Given the description of an element on the screen output the (x, y) to click on. 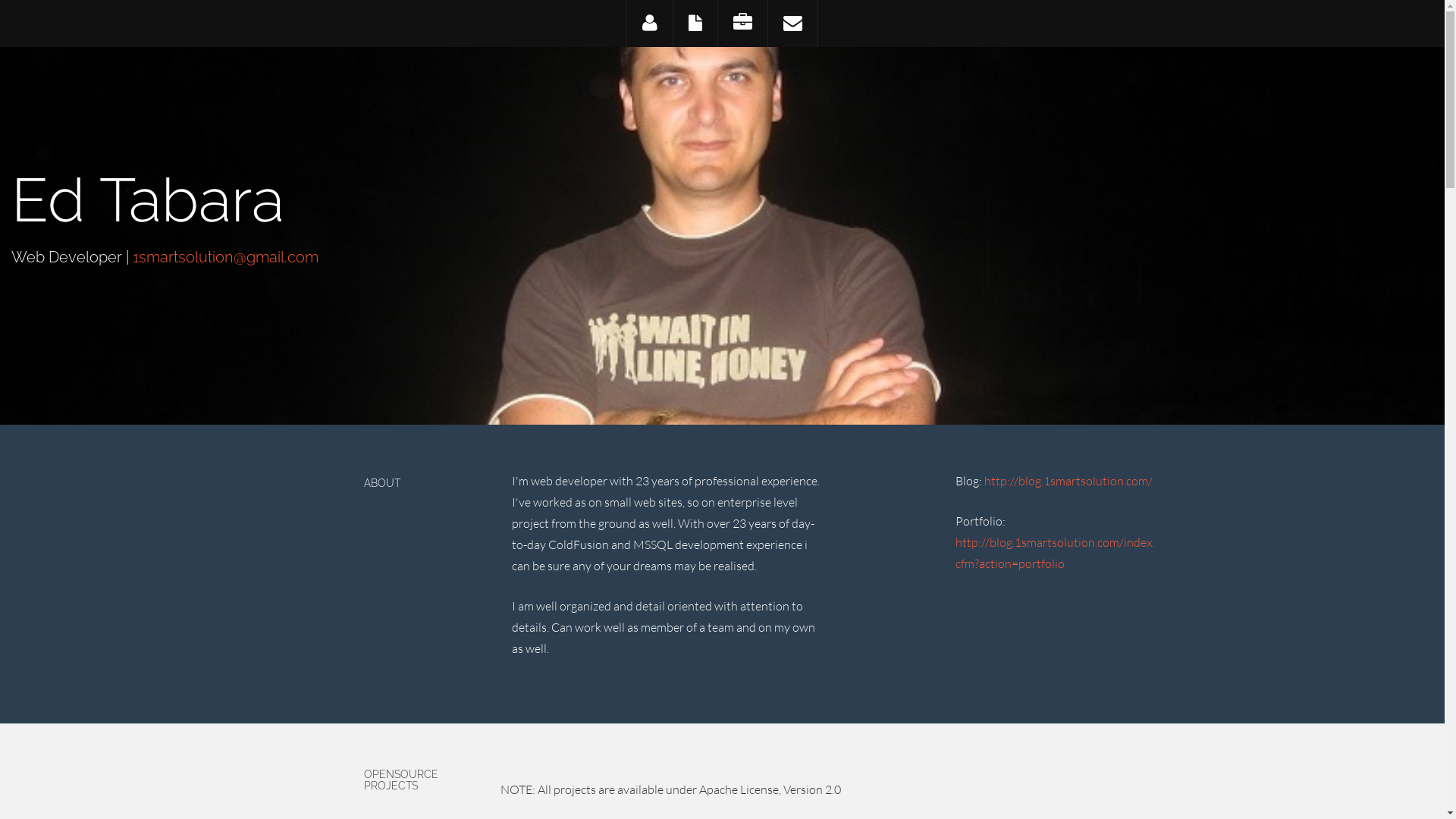
http://blog.1smartsolution.com/ Element type: text (1068, 480)
http://blog.1smartsolution.com/index.cfm?action=portfolio Element type: text (1054, 552)
Works Element type: hover (742, 23)
About Element type: hover (649, 23)
1smartsolution@gmail.com Element type: text (225, 256)
Contact Element type: hover (792, 23)
Resume Element type: hover (694, 23)
